Given the description of an element on the screen output the (x, y) to click on. 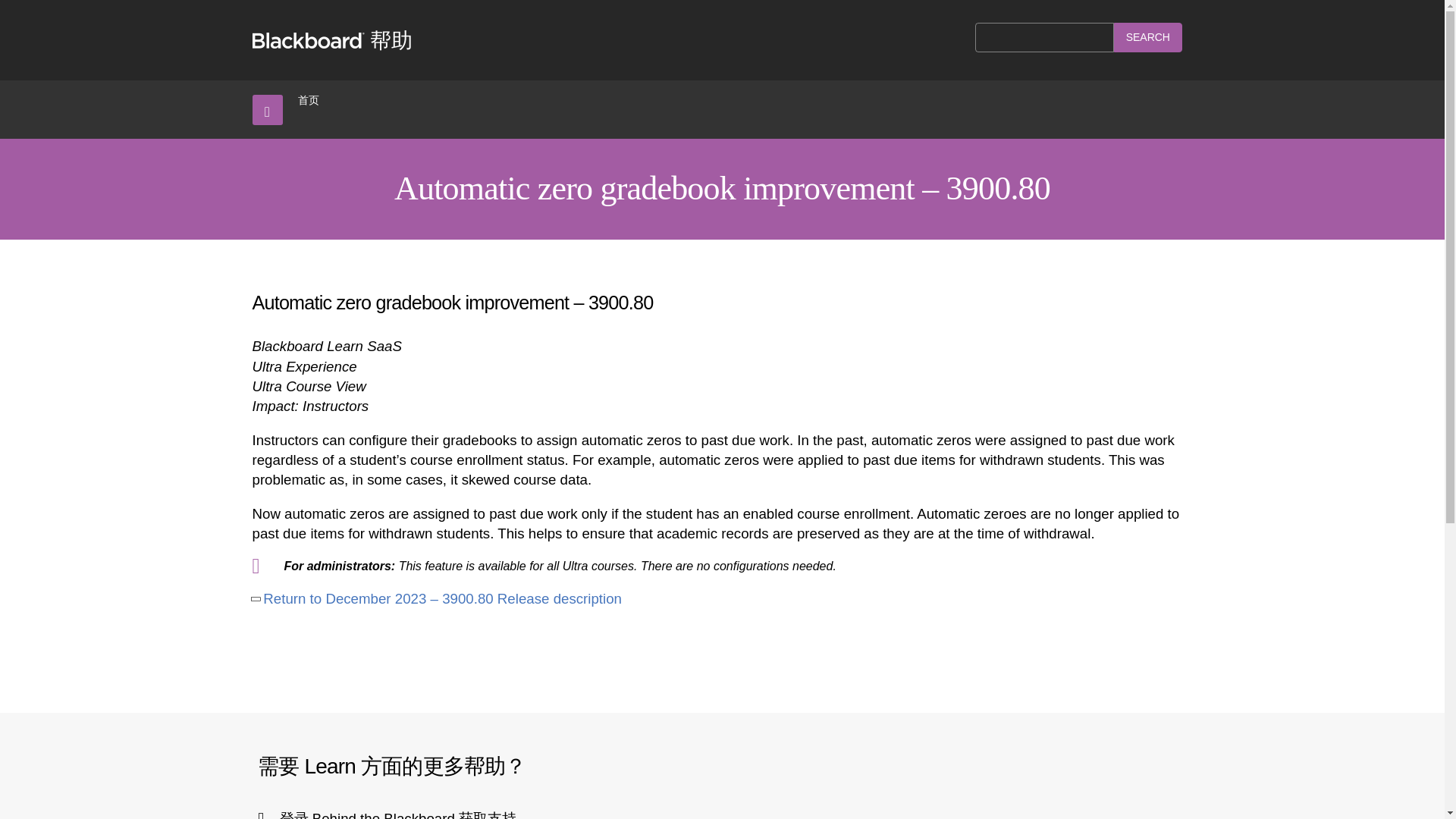
Search (1147, 37)
Search (1147, 37)
